Given the description of an element on the screen output the (x, y) to click on. 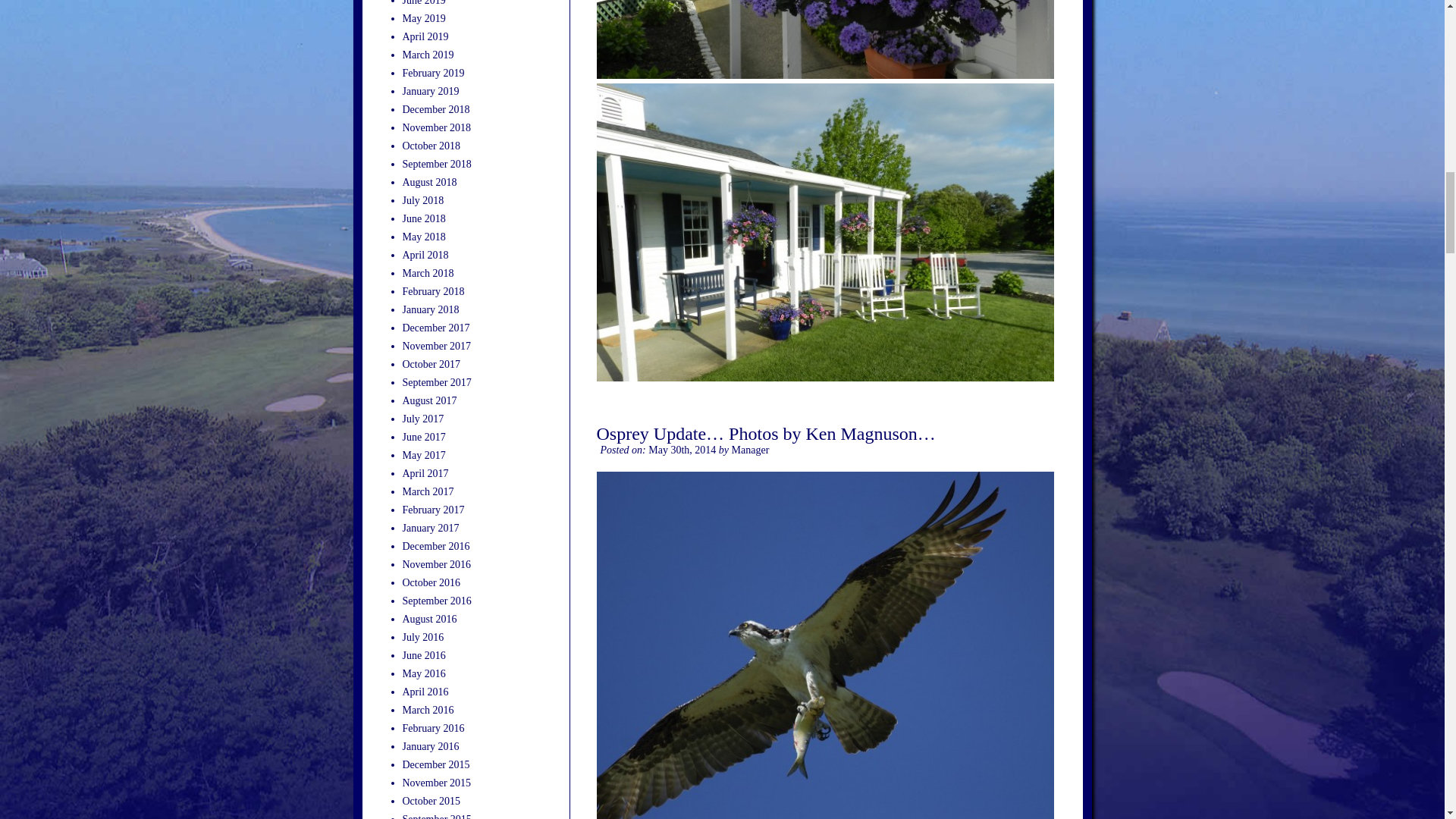
DSCN0431 (823, 39)
